Given the description of an element on the screen output the (x, y) to click on. 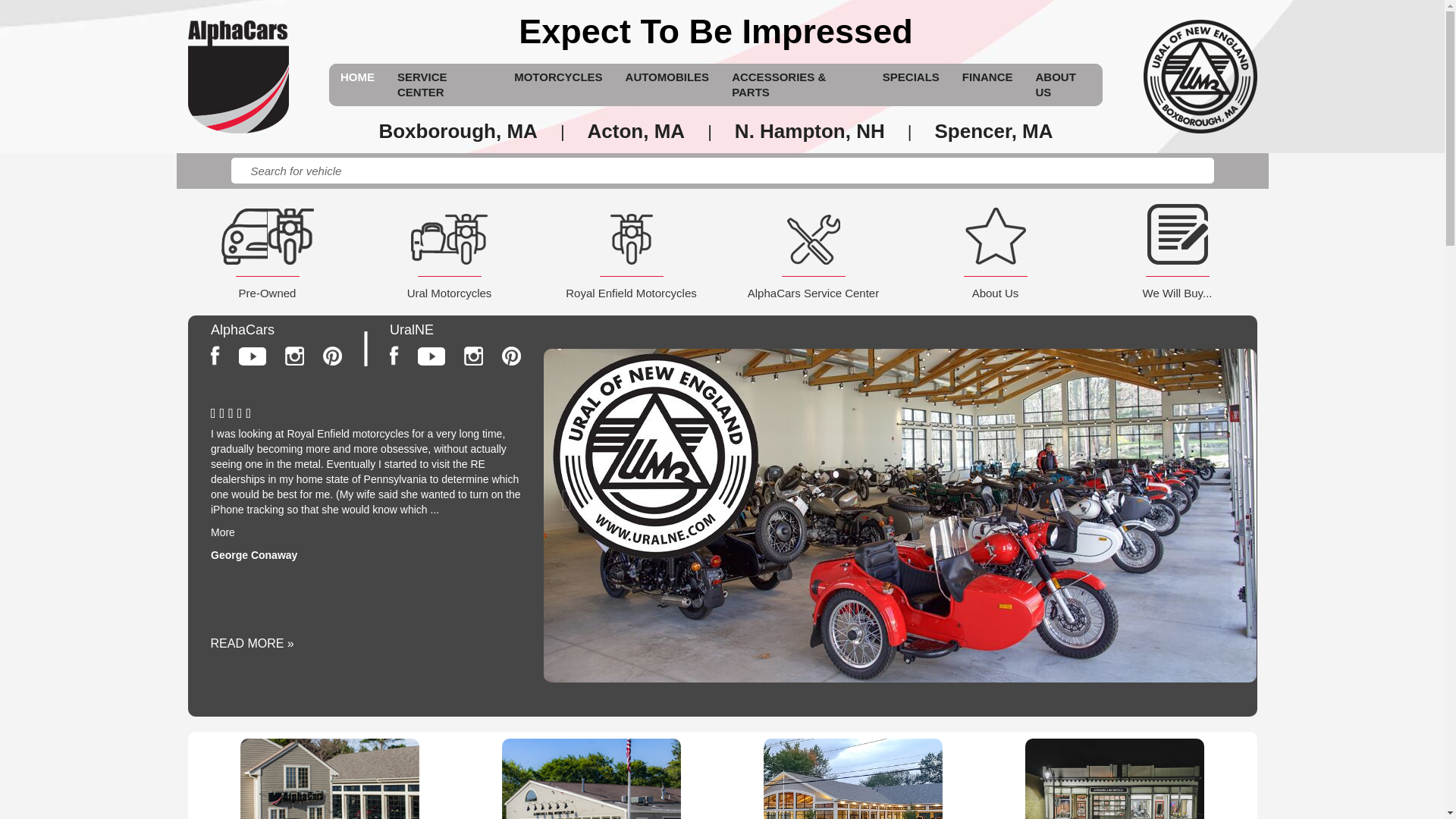
Home (357, 76)
MOTORCYCLES (557, 76)
Expect To Be Impressed (715, 31)
Motorcycles (557, 76)
Service Center (421, 84)
SERVICE CENTER (443, 84)
HOME (357, 77)
